Given the description of an element on the screen output the (x, y) to click on. 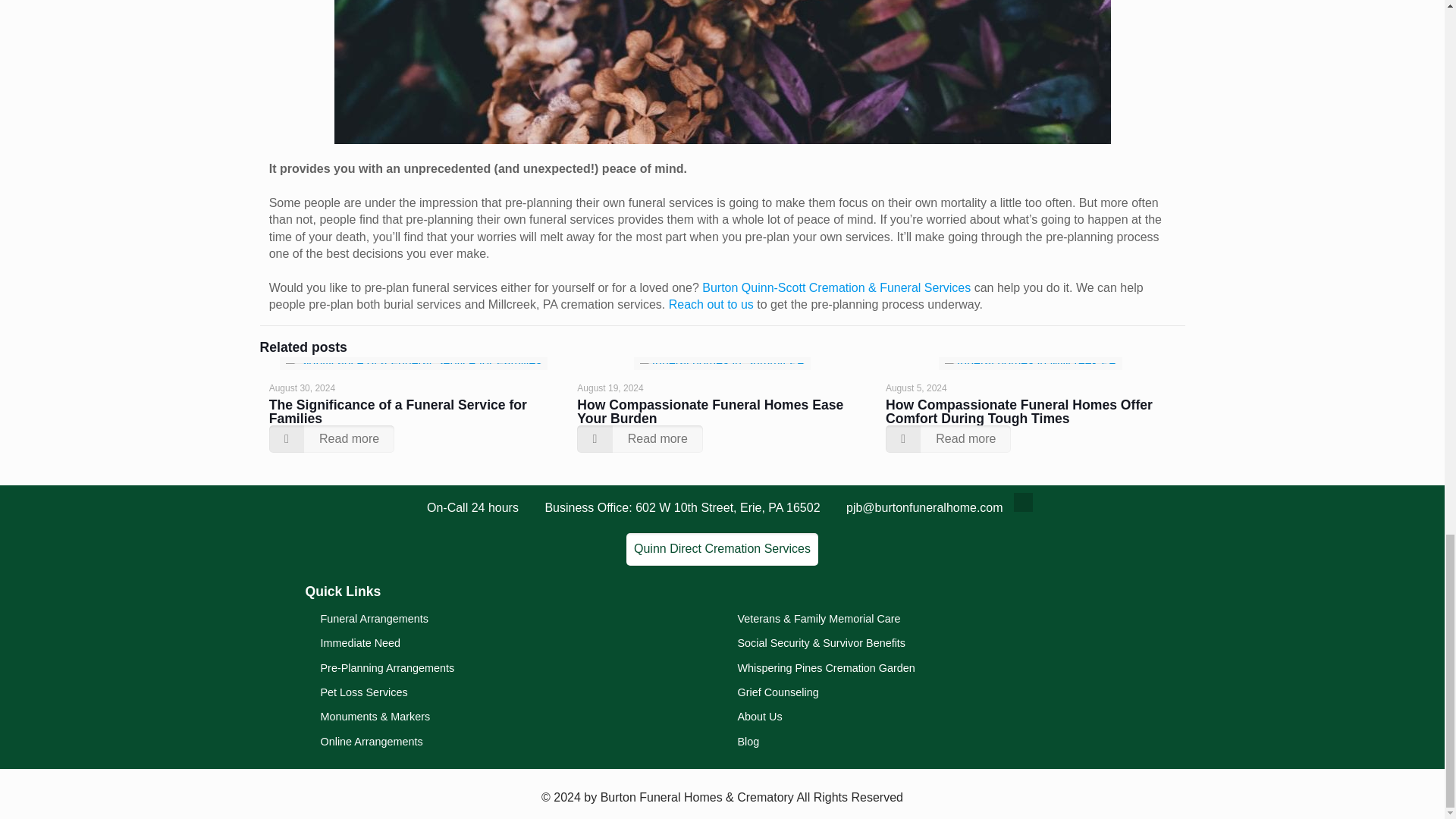
How Compassionate Funeral Homes Ease Your Burden (709, 411)
Read more (331, 438)
Read more (639, 438)
Reach out to us (711, 304)
The Significance of a Funeral Service for Families (398, 411)
